Given the description of an element on the screen output the (x, y) to click on. 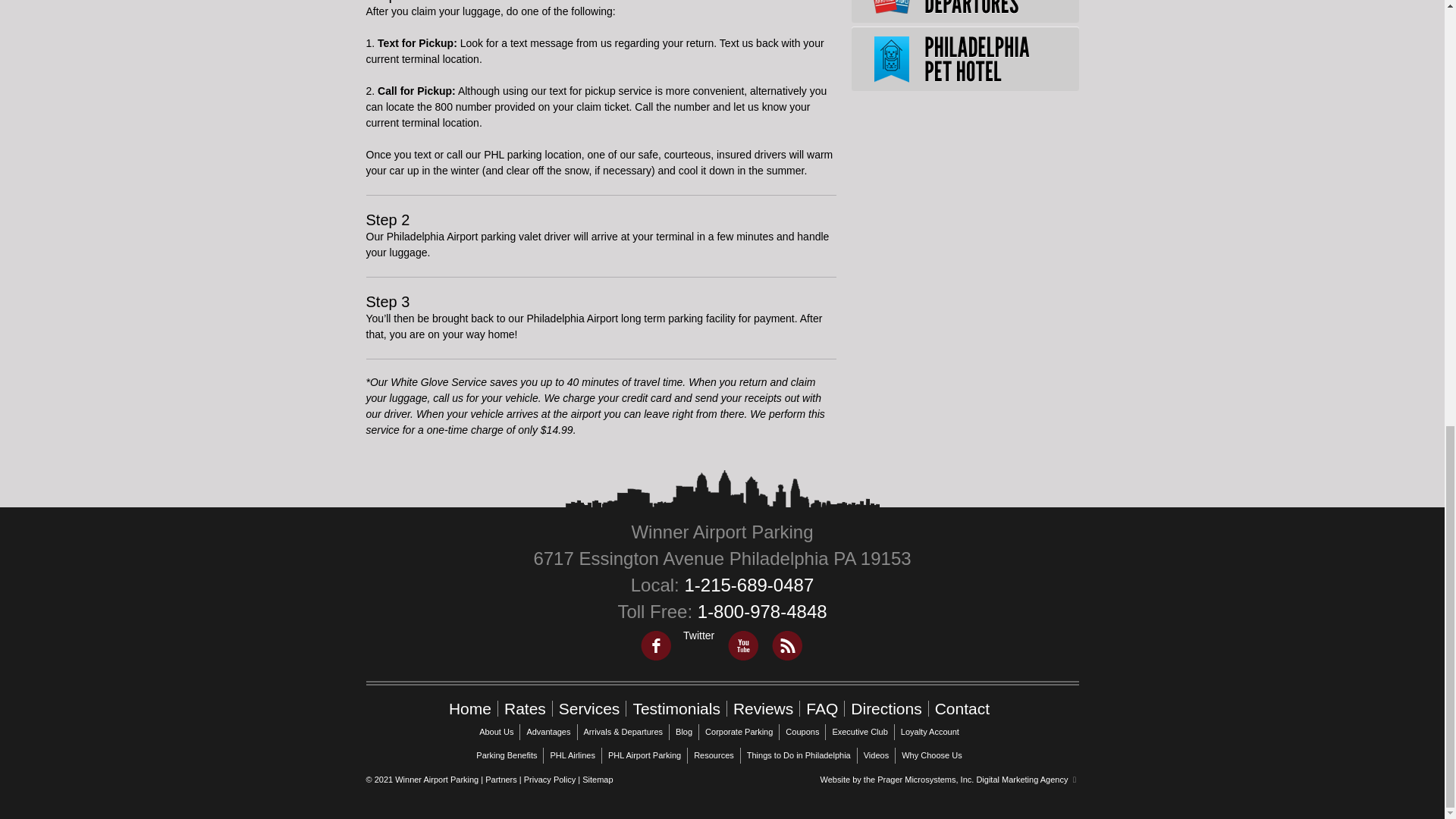
Contact (962, 708)
YouTube (742, 644)
Services (589, 708)
Directions (885, 708)
1-215-689-0487 (748, 584)
RSS (786, 644)
Testimonials (675, 708)
About Us (496, 731)
RSS (786, 644)
YouTube (742, 644)
FAQ (822, 708)
Rates (524, 708)
1-800-978-4848 (762, 611)
Facebook (655, 644)
Reviews (763, 708)
